Given the description of an element on the screen output the (x, y) to click on. 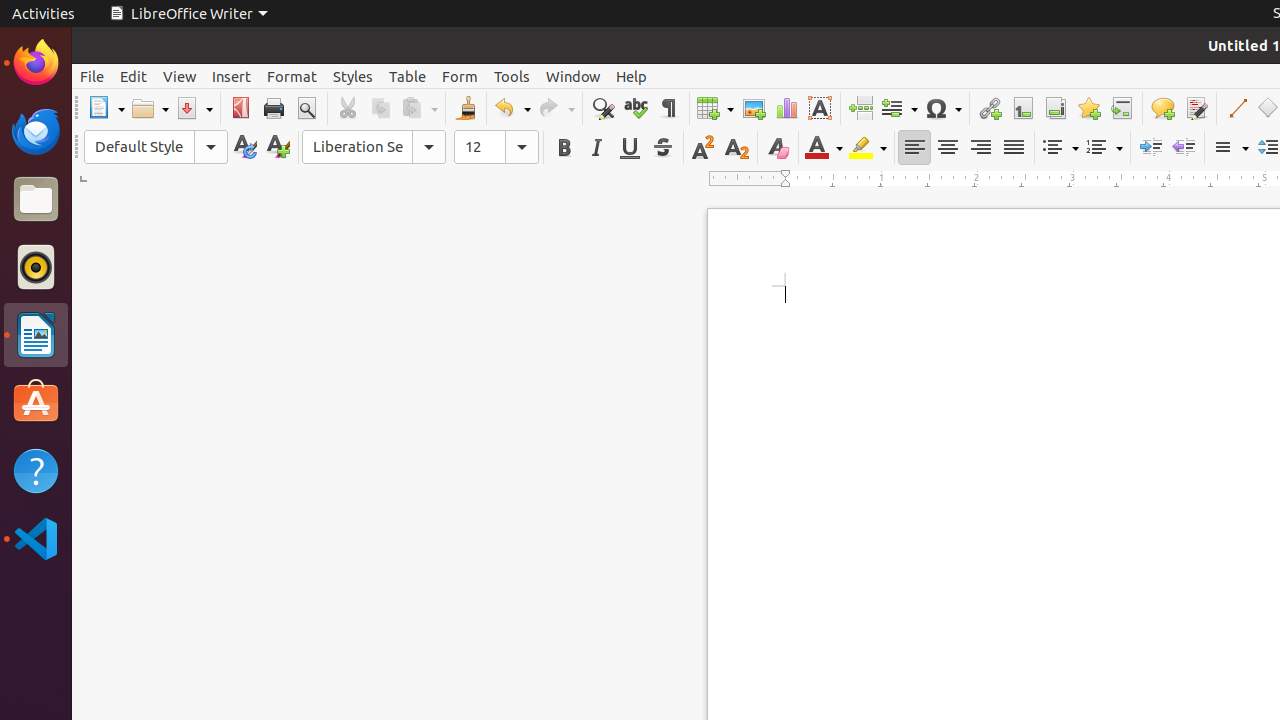
Paste Element type: push-button (419, 108)
Paragraph Style Element type: text (139, 147)
Underline Element type: push-button (629, 147)
Clear Element type: push-button (777, 147)
Font Name Element type: text (357, 147)
